Given the description of an element on the screen output the (x, y) to click on. 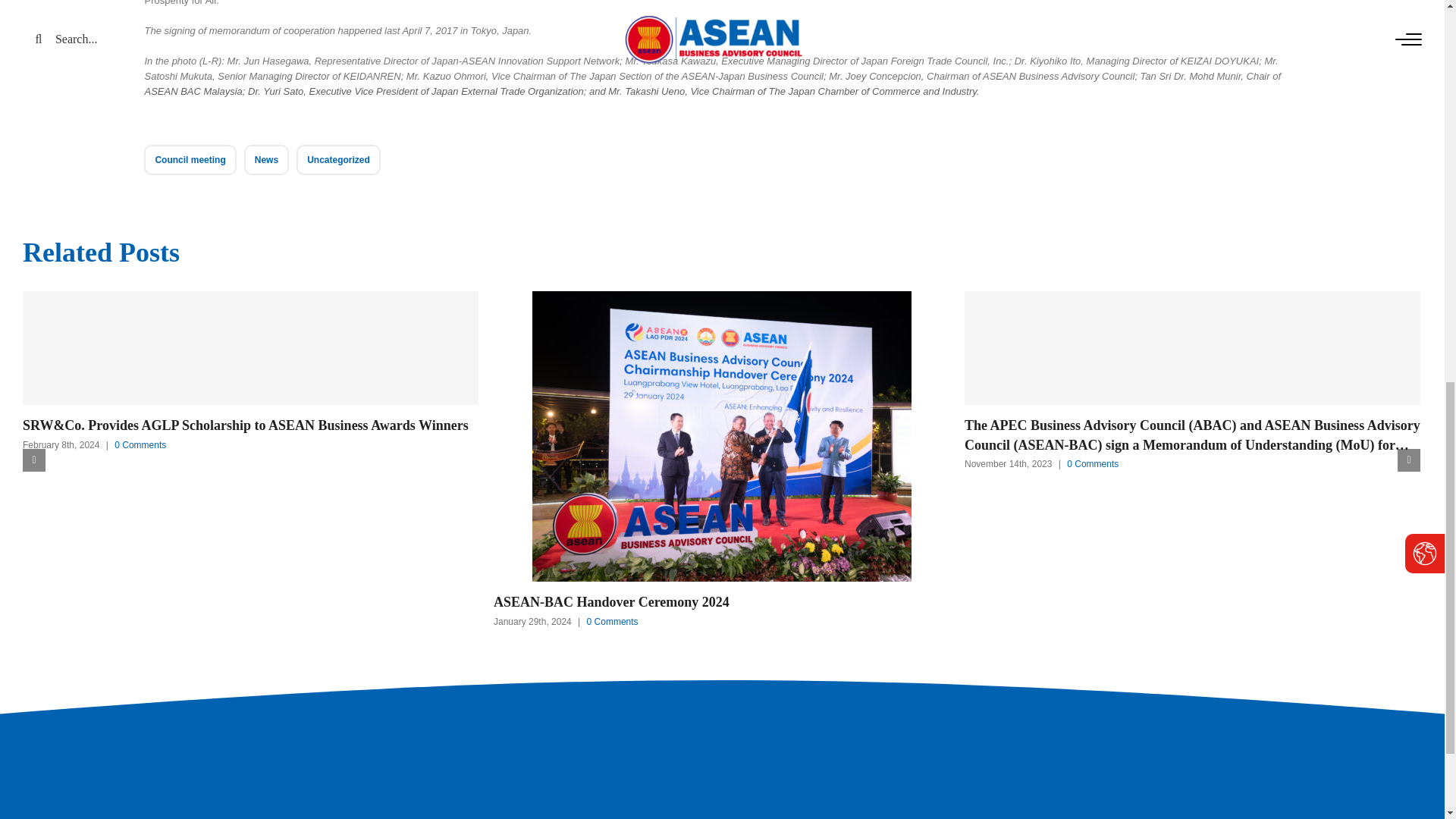
logo (721, 780)
ASEAN-BAC Handover Ceremony 2024 (721, 601)
